Given the description of an element on the screen output the (x, y) to click on. 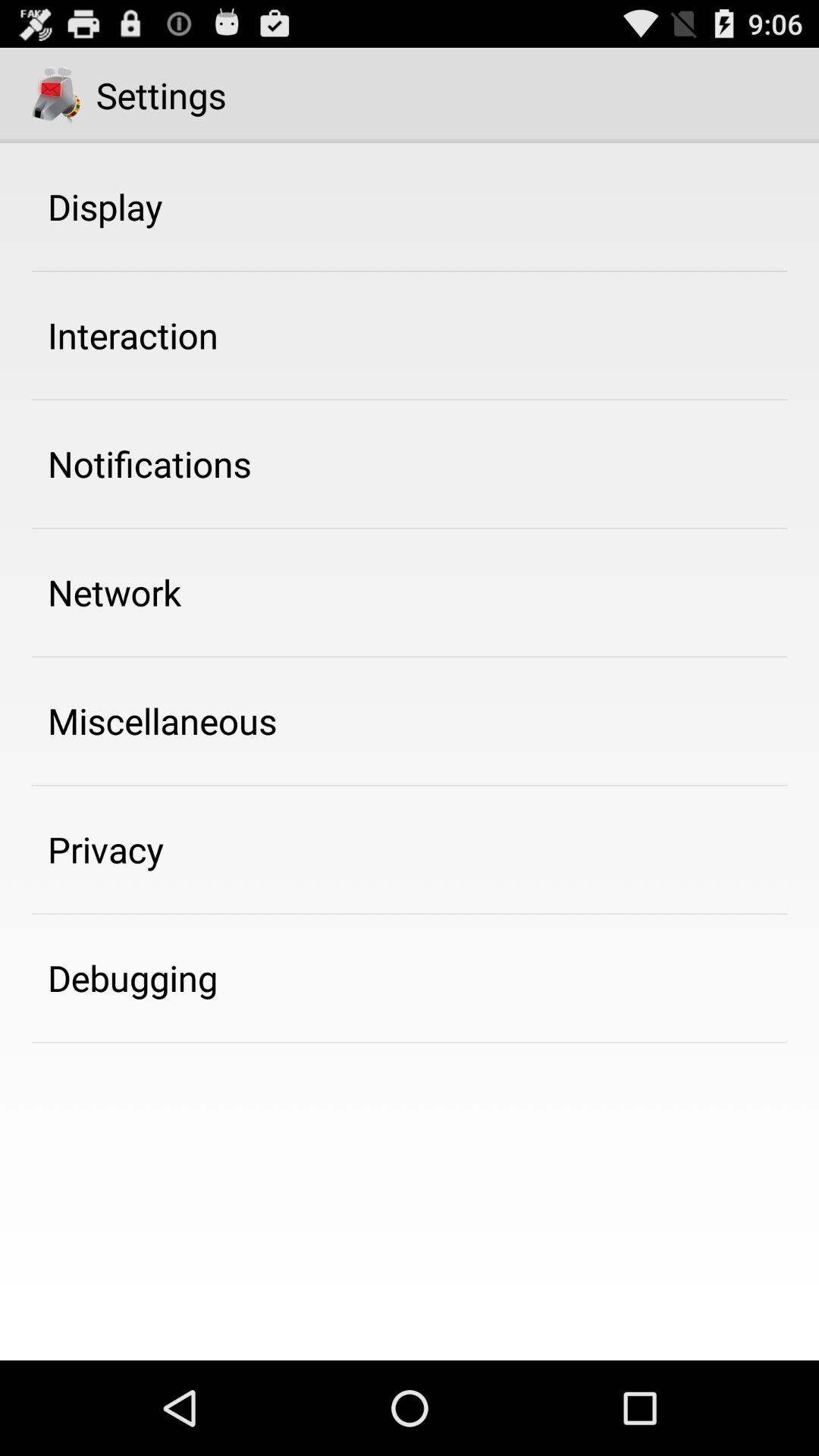
jump to the interaction icon (132, 335)
